Given the description of an element on the screen output the (x, y) to click on. 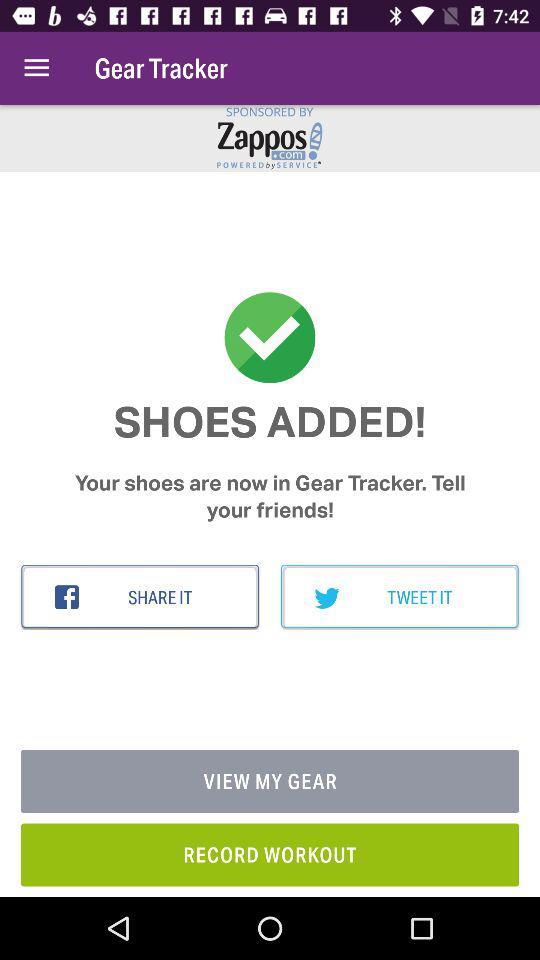
click the item to the right of share it (399, 597)
